Given the description of an element on the screen output the (x, y) to click on. 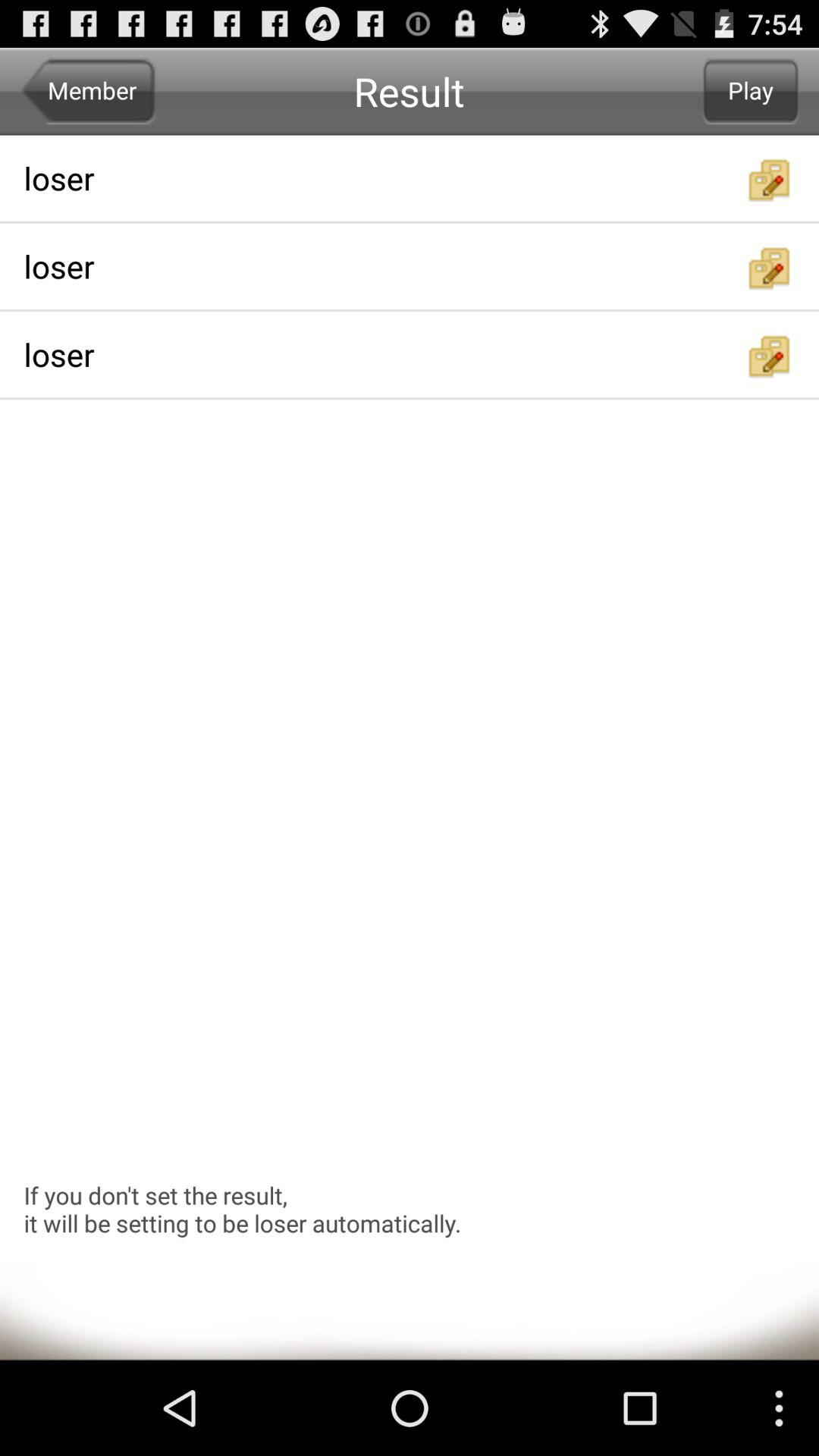
press the member (87, 91)
